Given the description of an element on the screen output the (x, y) to click on. 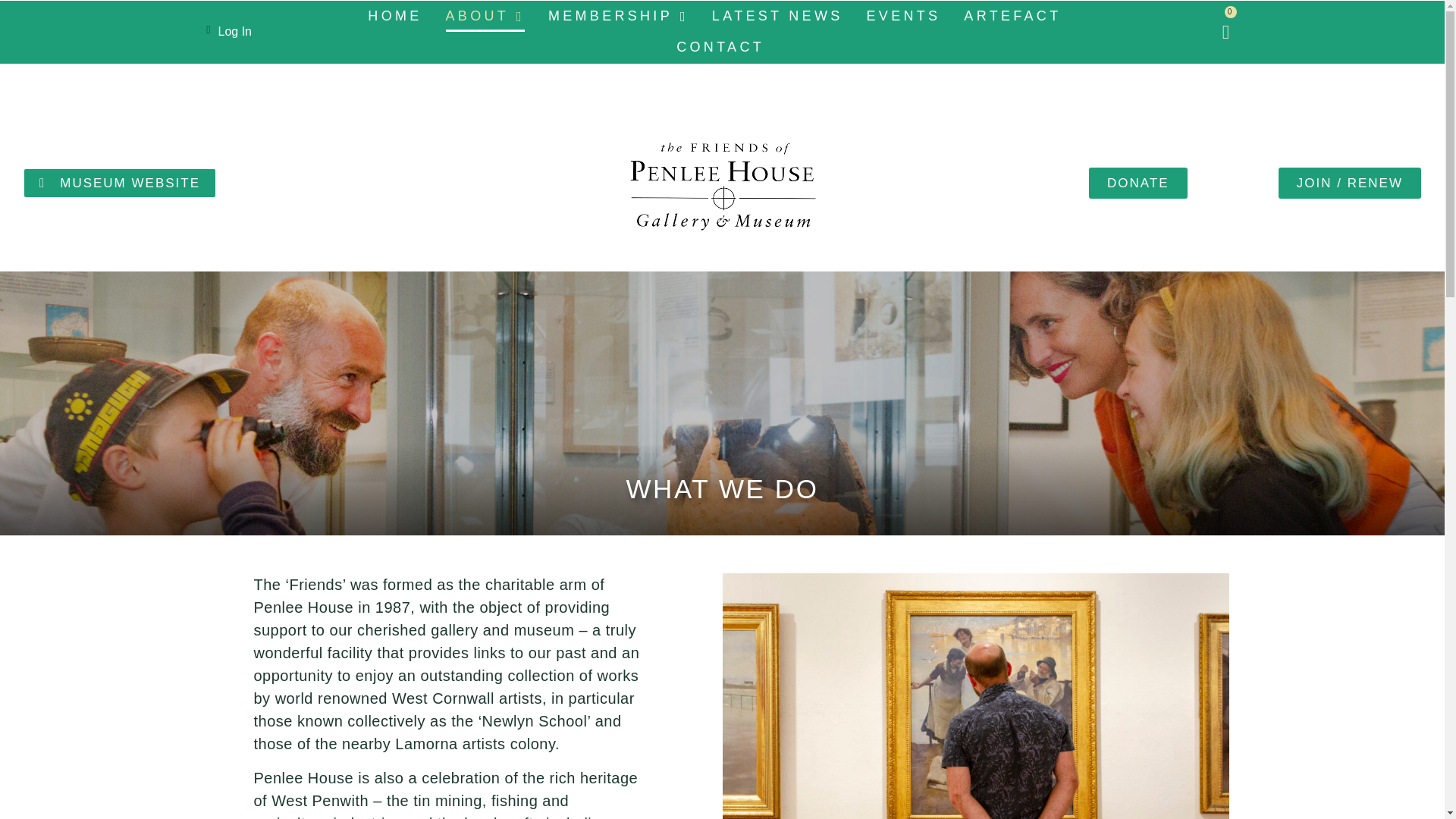
CONTACT (720, 47)
HOME (395, 15)
EVENTS (903, 15)
MUSEUM WEBSITE (119, 182)
LATEST NEWS (777, 15)
DONATE (1138, 183)
ABOUT (484, 15)
ARTEFACT (1012, 15)
MEMBERSHIP (618, 15)
Log In (234, 31)
